Given the description of an element on the screen output the (x, y) to click on. 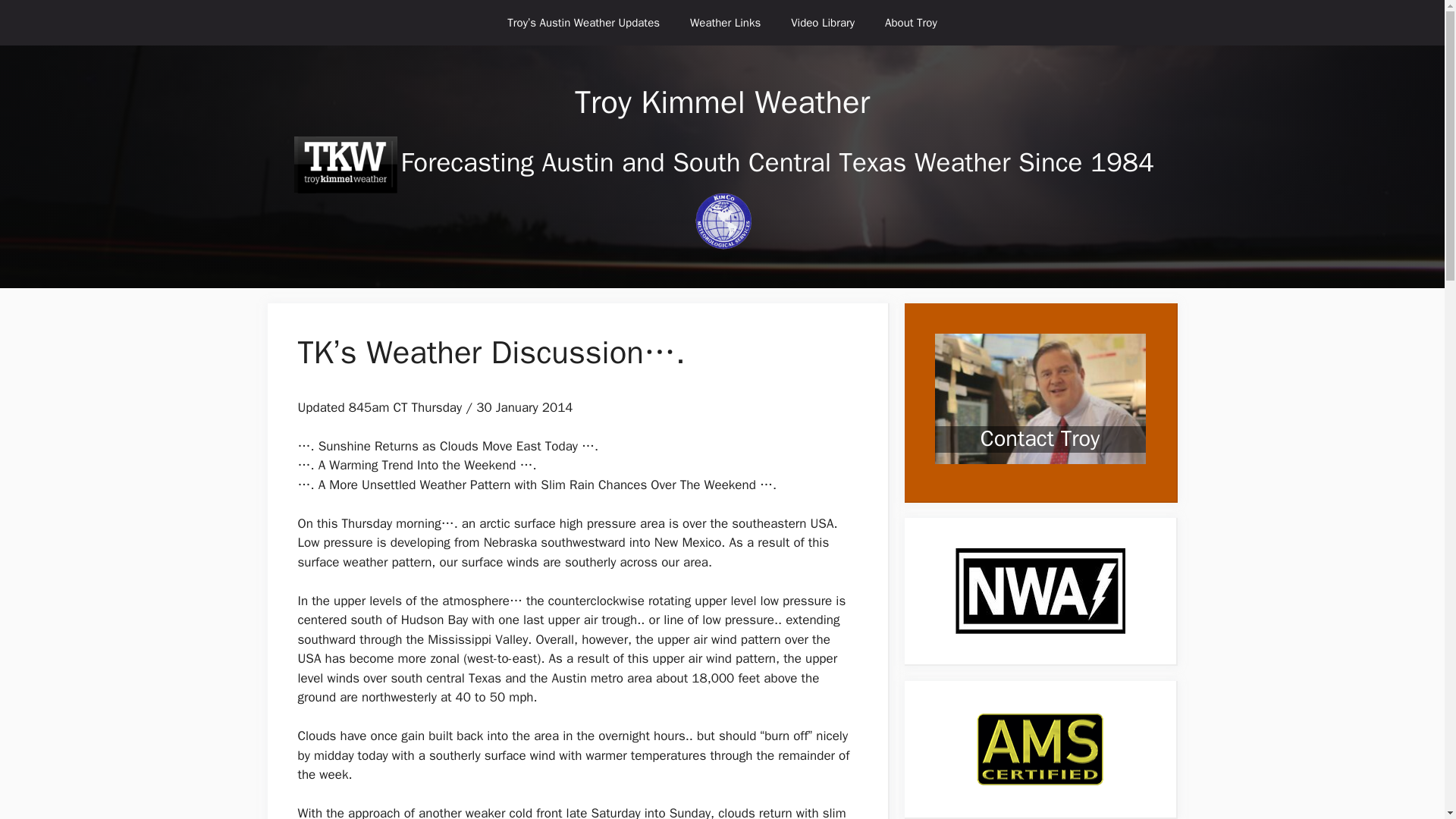
About Troy (910, 22)
Video Library (822, 22)
Weather Links (725, 22)
Contact Troy (1039, 411)
